Given the description of an element on the screen output the (x, y) to click on. 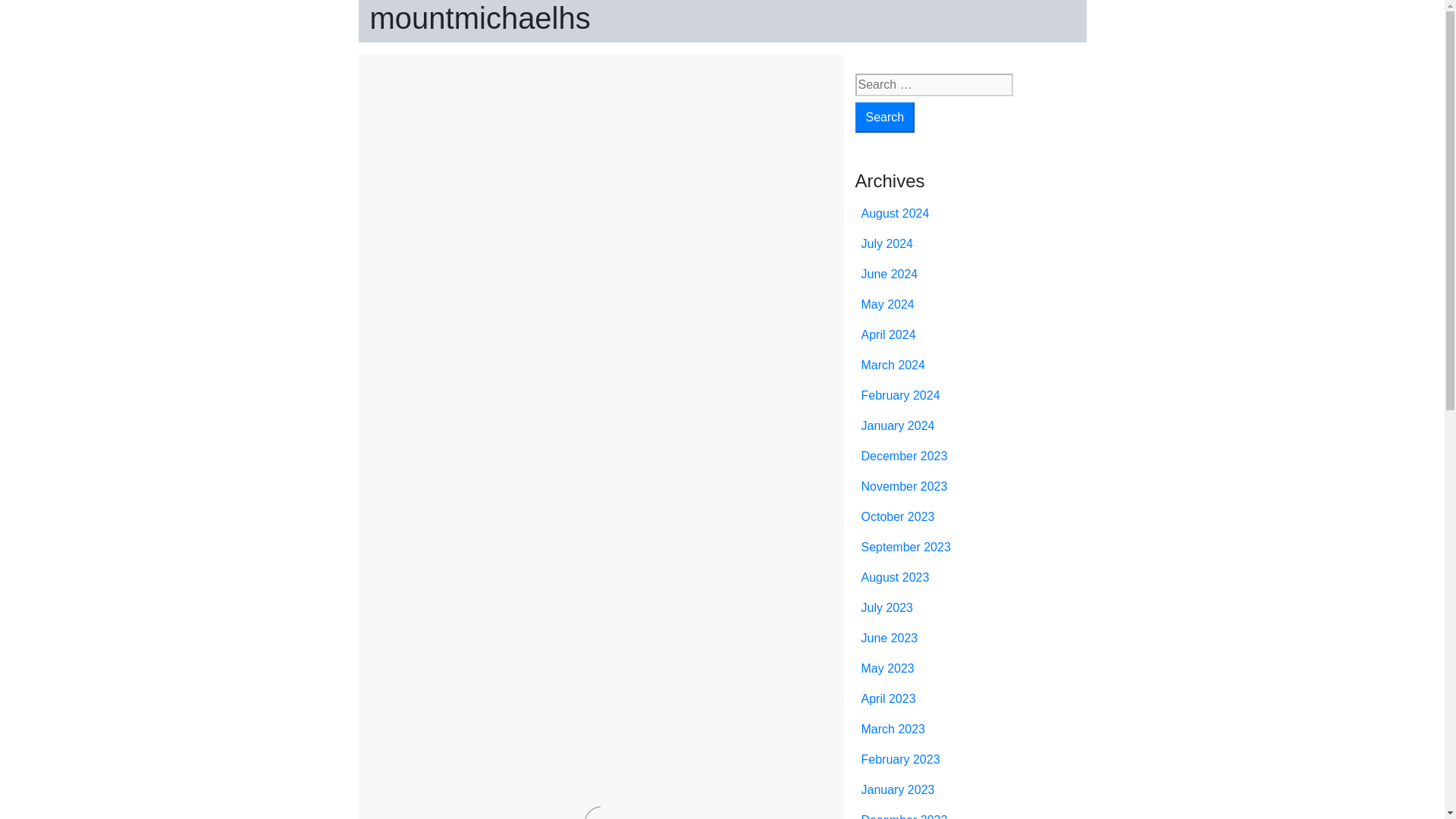
February 2024 (900, 395)
August 2024 (895, 213)
May 14, 2023 (468, 164)
January 2024 (897, 425)
April 2024 (888, 334)
WHAT IS A LOTTERY? (495, 135)
Admin (544, 164)
mountmichaelhs (480, 18)
July 2024 (887, 243)
June 2024 (889, 273)
